Given the description of an element on the screen output the (x, y) to click on. 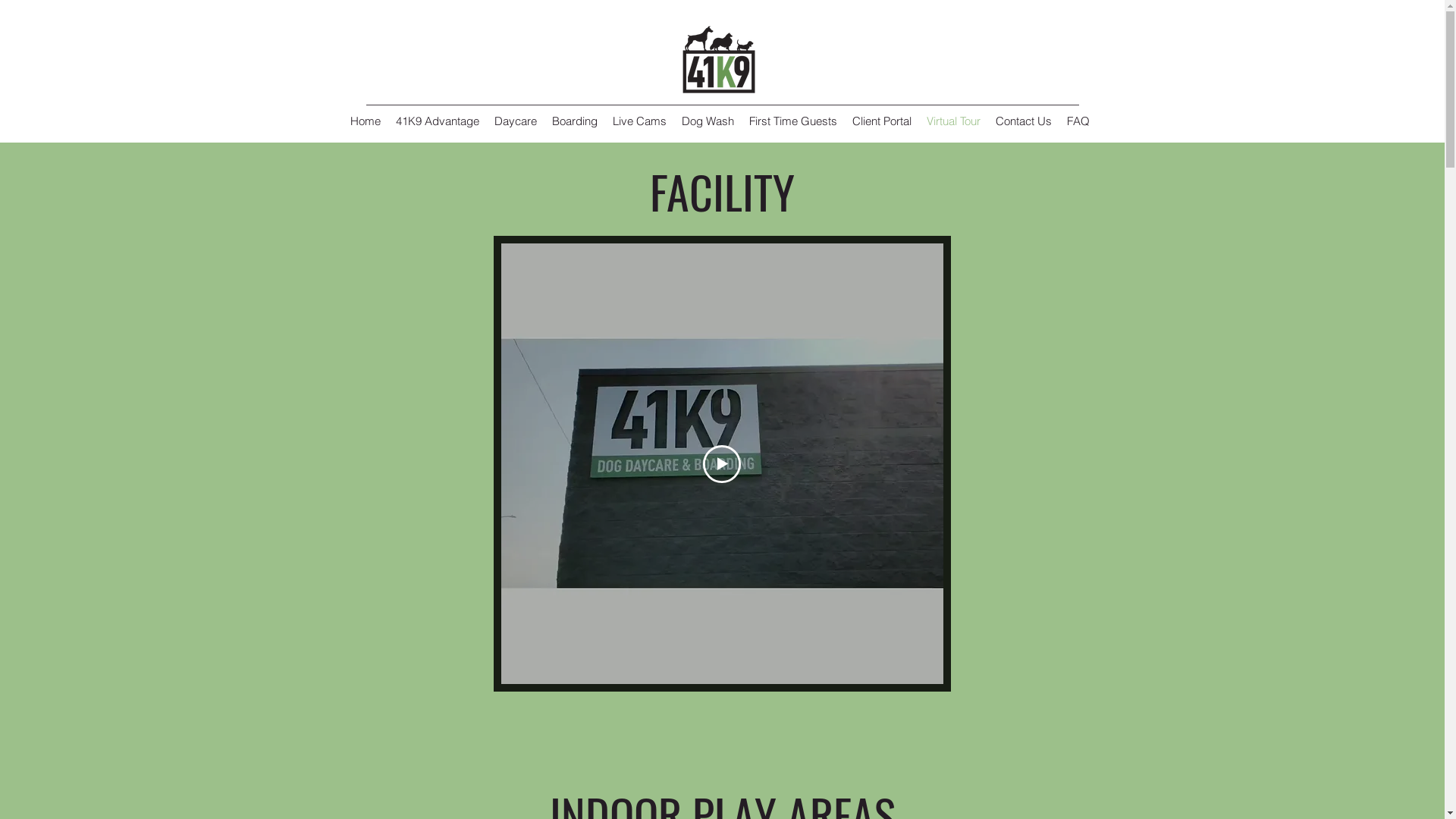
FAQ Element type: text (1078, 120)
Live Cams Element type: text (639, 120)
Client Portal Element type: text (881, 120)
Home Element type: text (365, 120)
Virtual Tour Element type: text (953, 120)
41K9 Advantage Element type: text (437, 120)
First Time Guests Element type: text (792, 120)
Dog Wash Element type: text (707, 120)
Contact Us Element type: text (1023, 120)
